Given the description of an element on the screen output the (x, y) to click on. 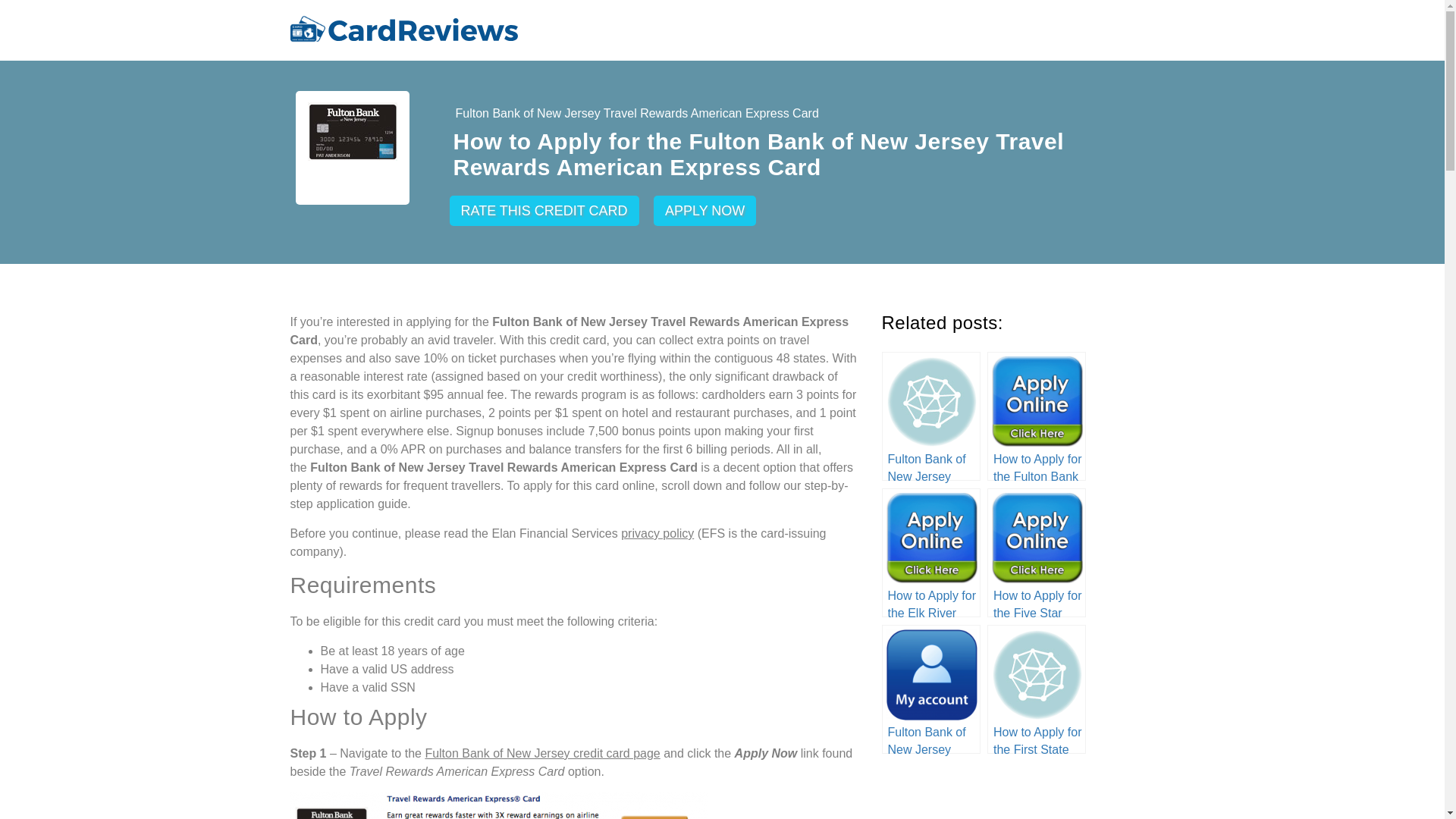
privacy policy (657, 533)
RATE THIS CREDIT CARD (543, 210)
APPLY NOW (704, 210)
Fulton Bank of New Jersey credit card page (542, 753)
